Given the description of an element on the screen output the (x, y) to click on. 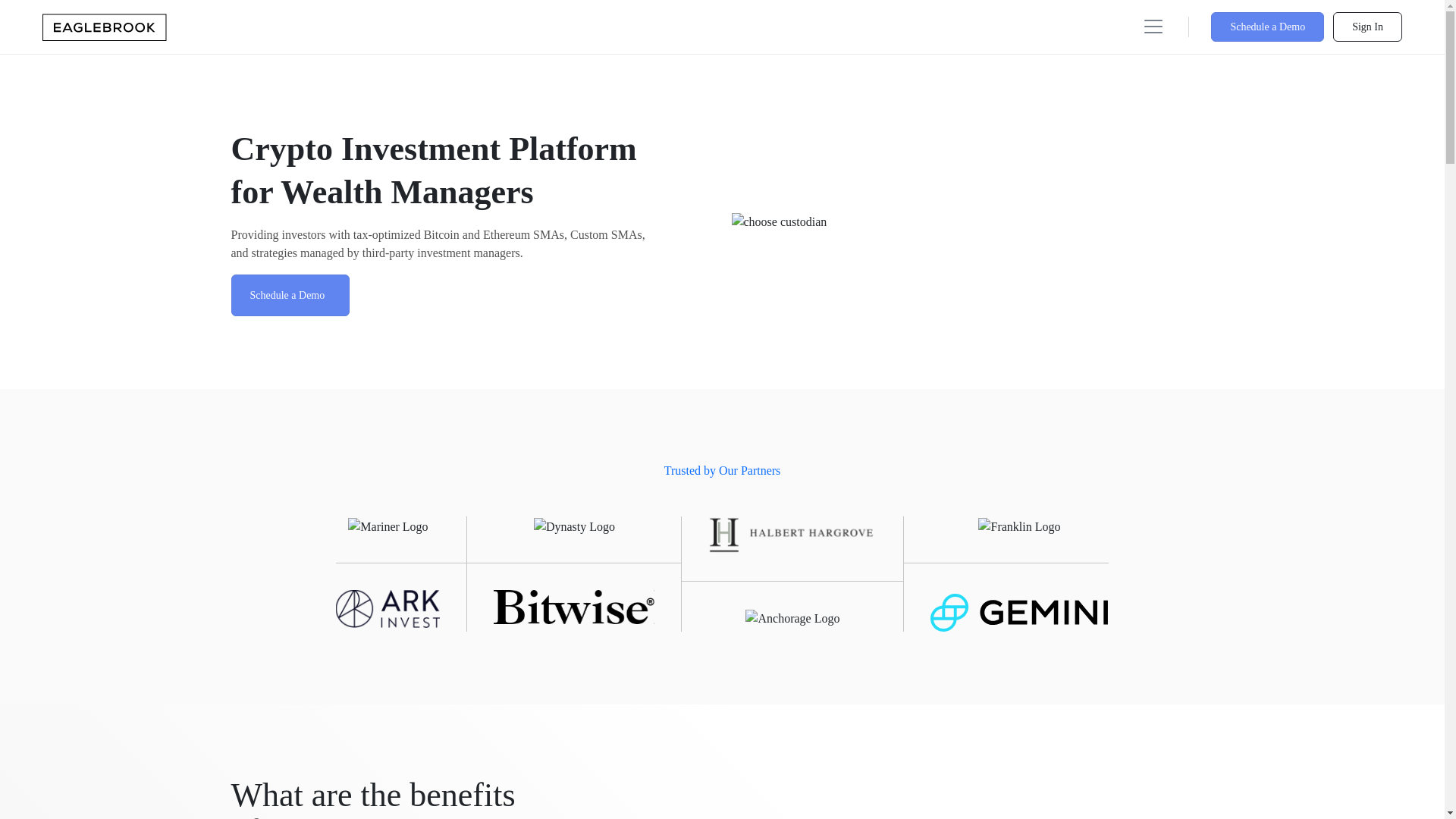
Schedule a Demo (289, 295)
Sign In (1367, 26)
Schedule a Demo (1267, 26)
